Given the description of an element on the screen output the (x, y) to click on. 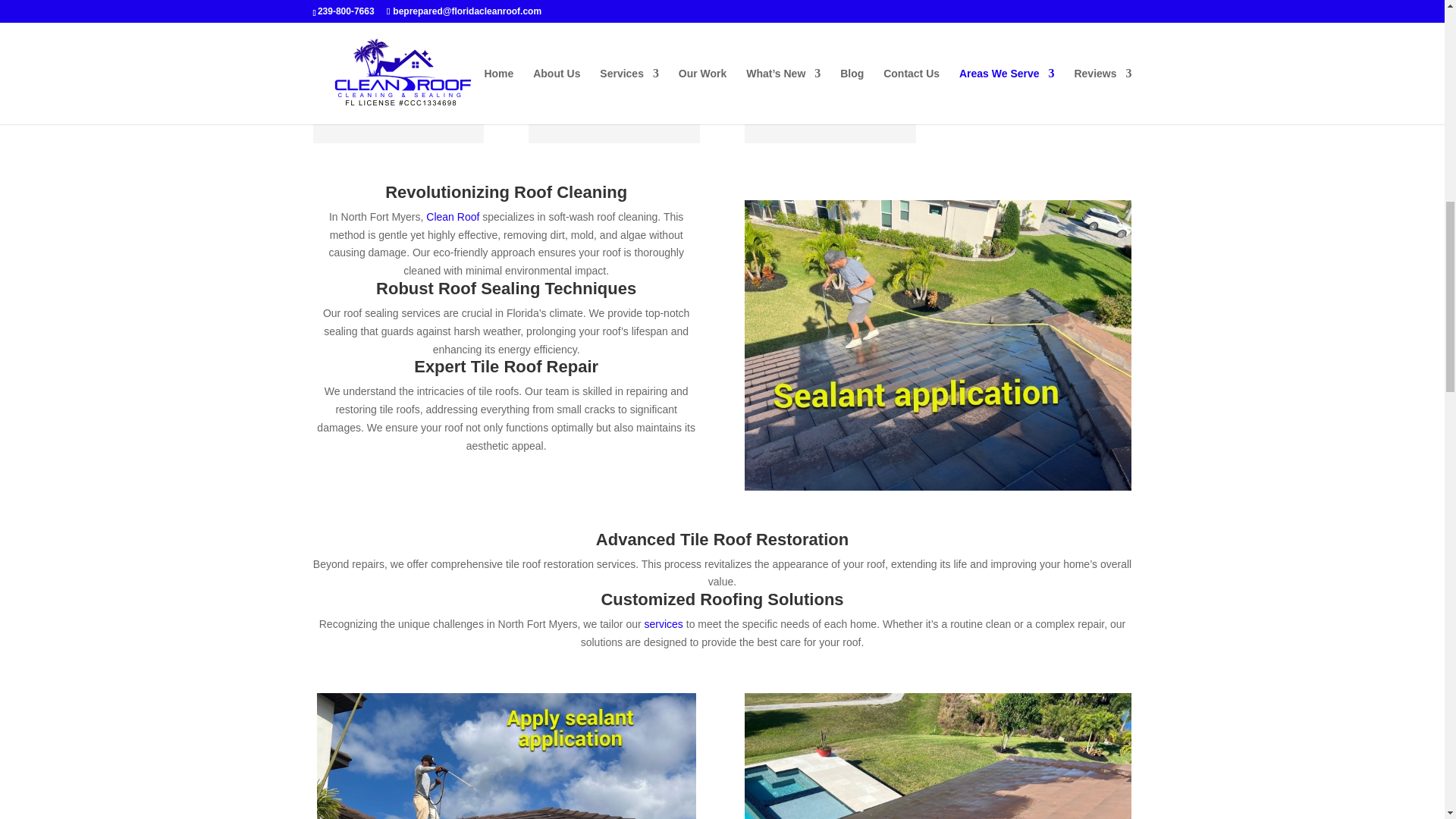
services (663, 623)
Sealant Application (937, 344)
Sealant applied (506, 755)
Clean Roof (452, 216)
services (663, 623)
Clean Roof (452, 216)
